Given the description of an element on the screen output the (x, y) to click on. 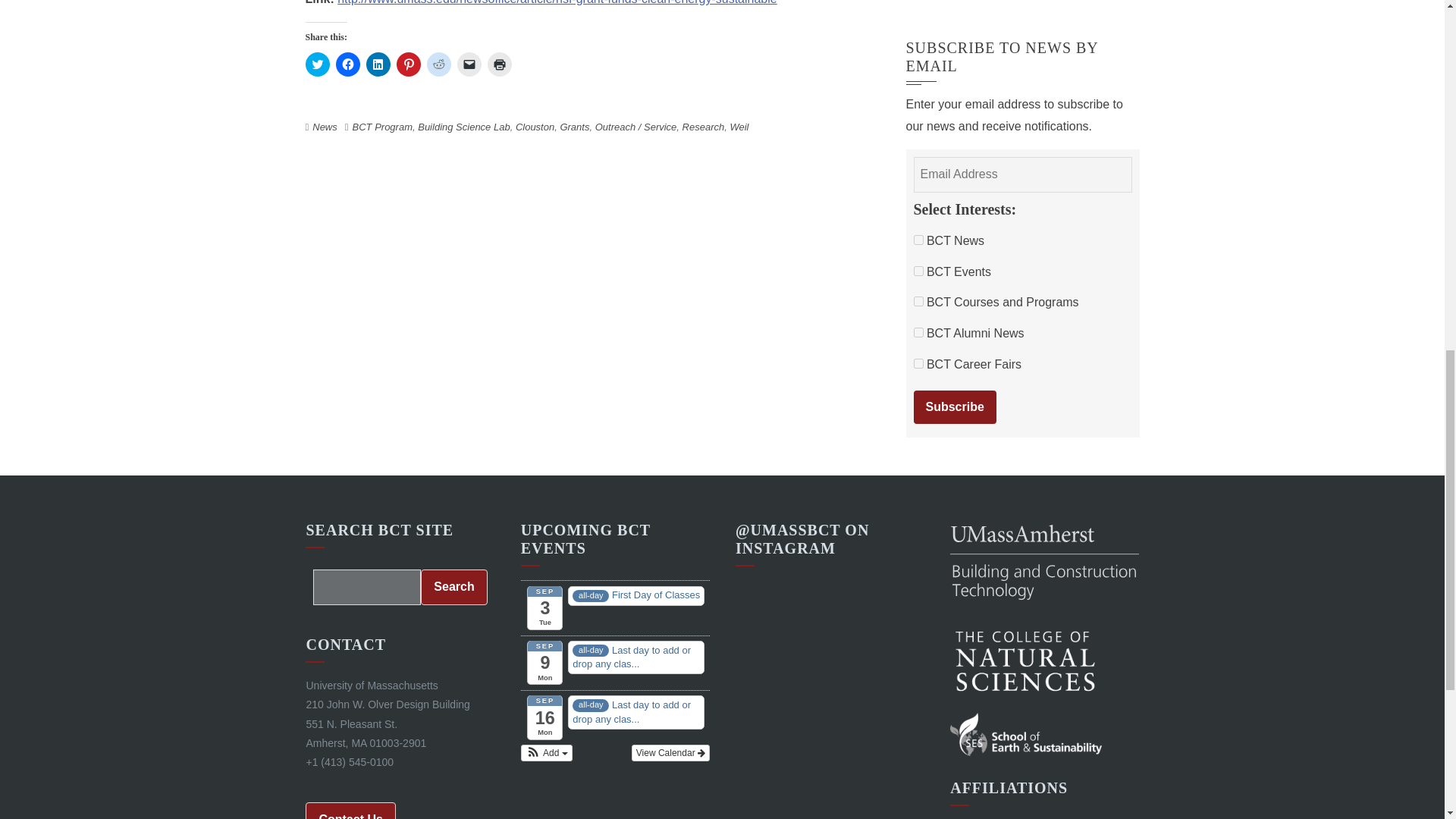
Click to share on Reddit (437, 64)
Search (453, 587)
2 (917, 332)
Subscribe (953, 407)
1 (917, 239)
Click to share on Facebook (346, 64)
Click to email a link to a friend (468, 64)
Click to share on Twitter (316, 64)
Click to share on LinkedIn (377, 64)
4 (917, 271)
